Given the description of an element on the screen output the (x, y) to click on. 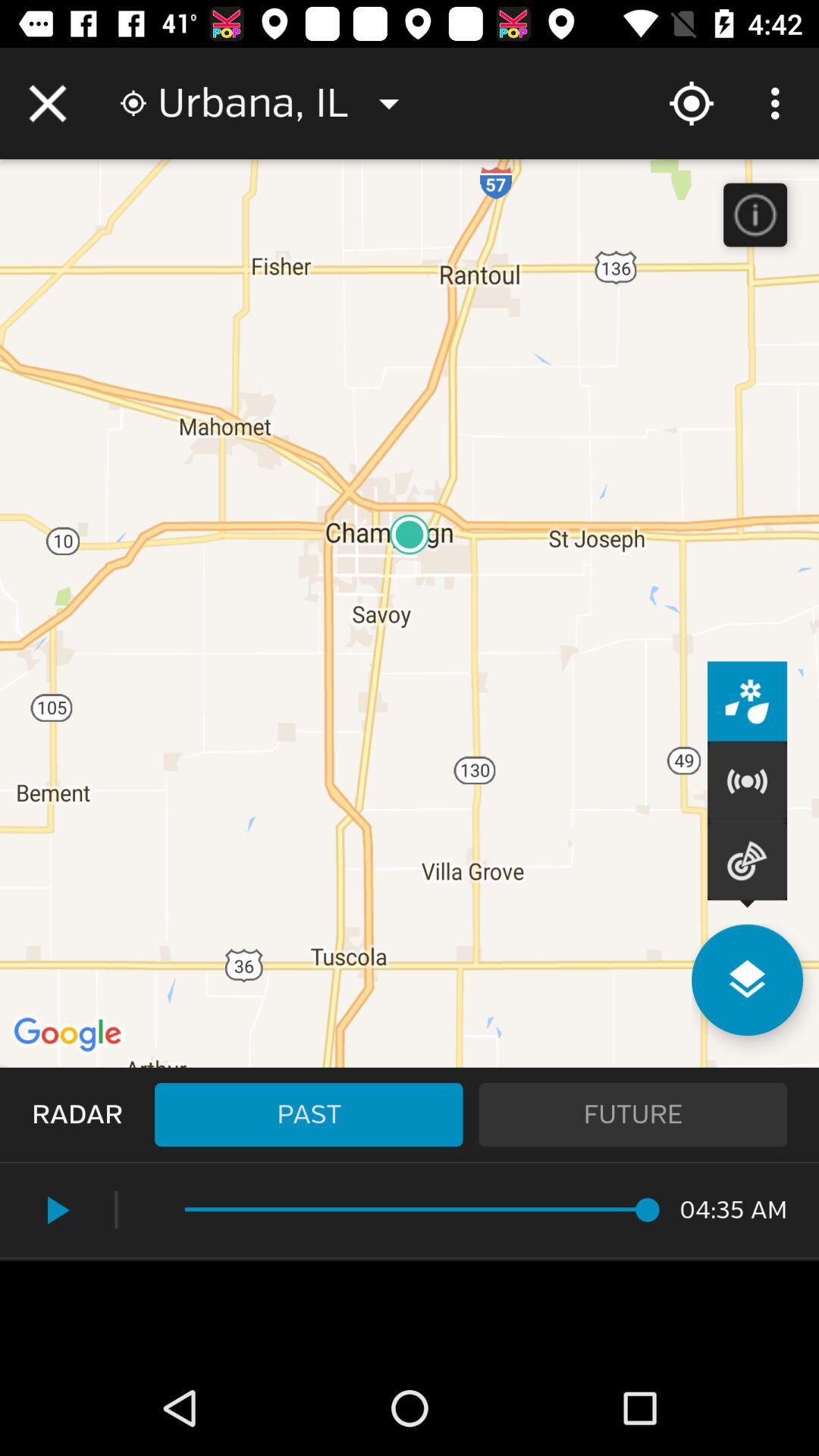
swipe until past (308, 1114)
